Given the description of an element on the screen output the (x, y) to click on. 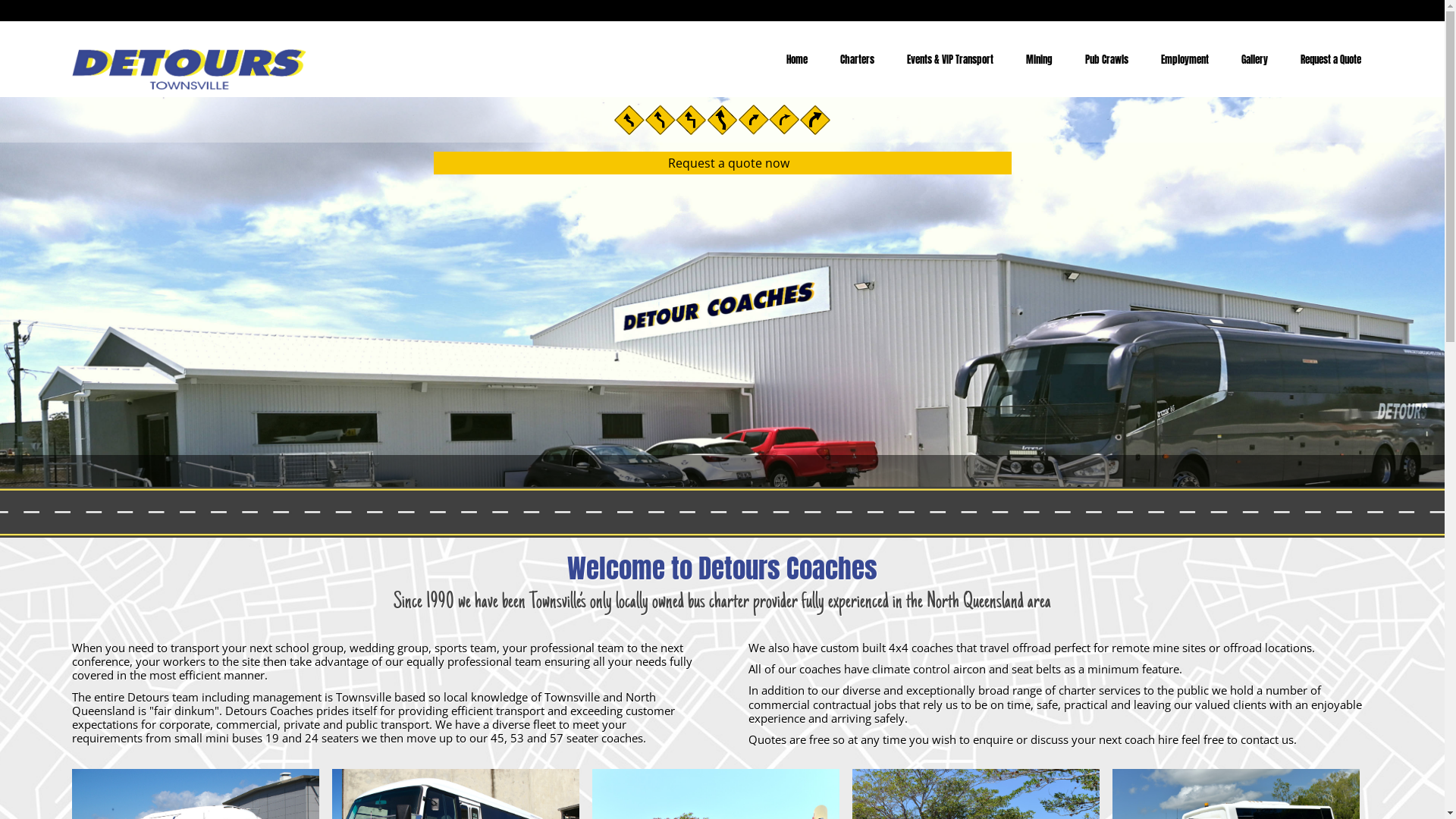
Employment Element type: text (1179, 59)
Events & VIP Transport Element type: text (944, 59)
Home Element type: text (792, 59)
Request a Quote Element type: text (1325, 59)
Gallery Element type: text (1249, 59)
Mining Element type: text (1033, 59)
Charters Element type: text (852, 59)
Request a quote now Element type: text (721, 162)
Pub Crawls Element type: text (1101, 59)
